Given the description of an element on the screen output the (x, y) to click on. 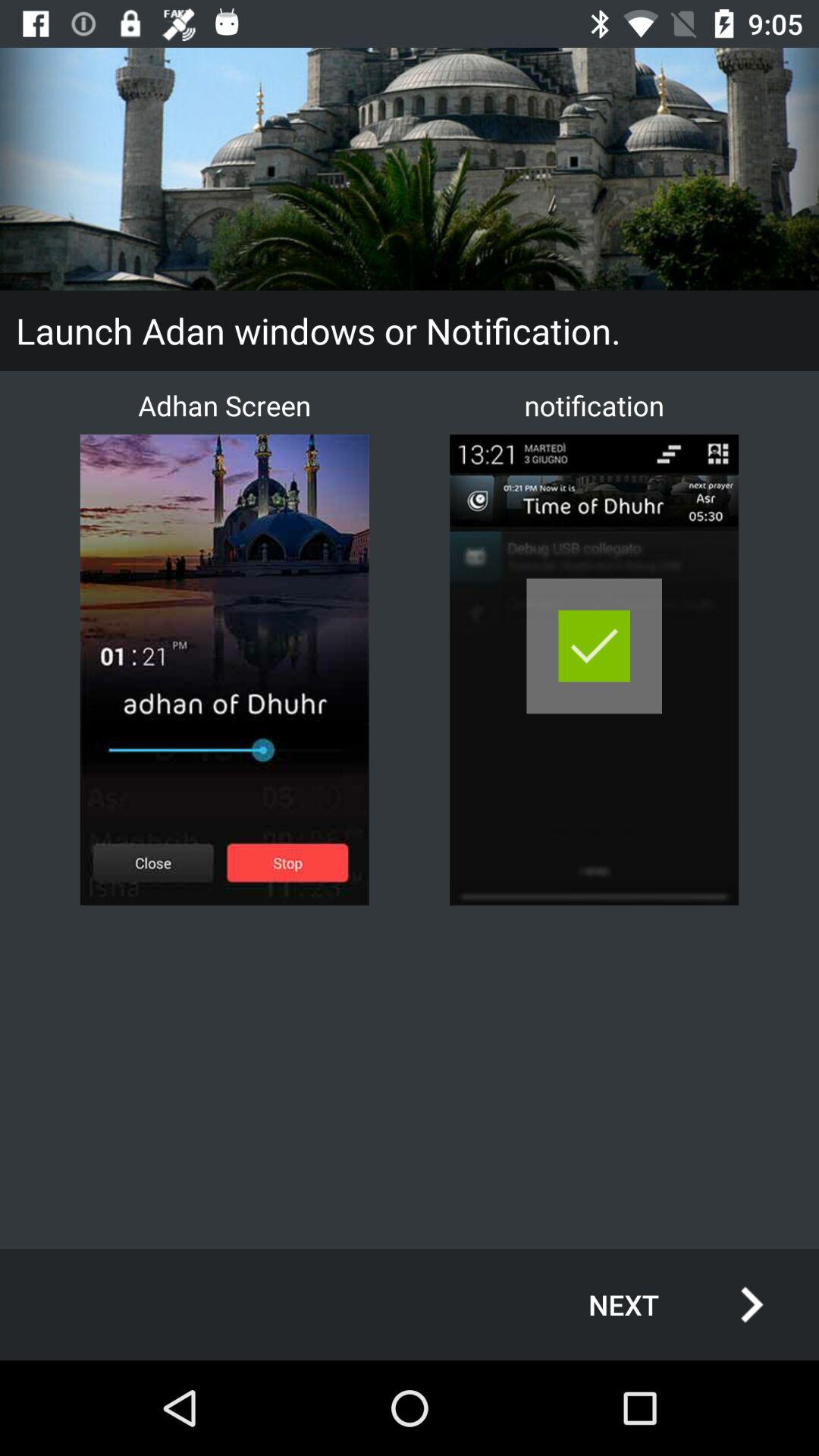
press icon at the bottom right corner (659, 1304)
